Given the description of an element on the screen output the (x, y) to click on. 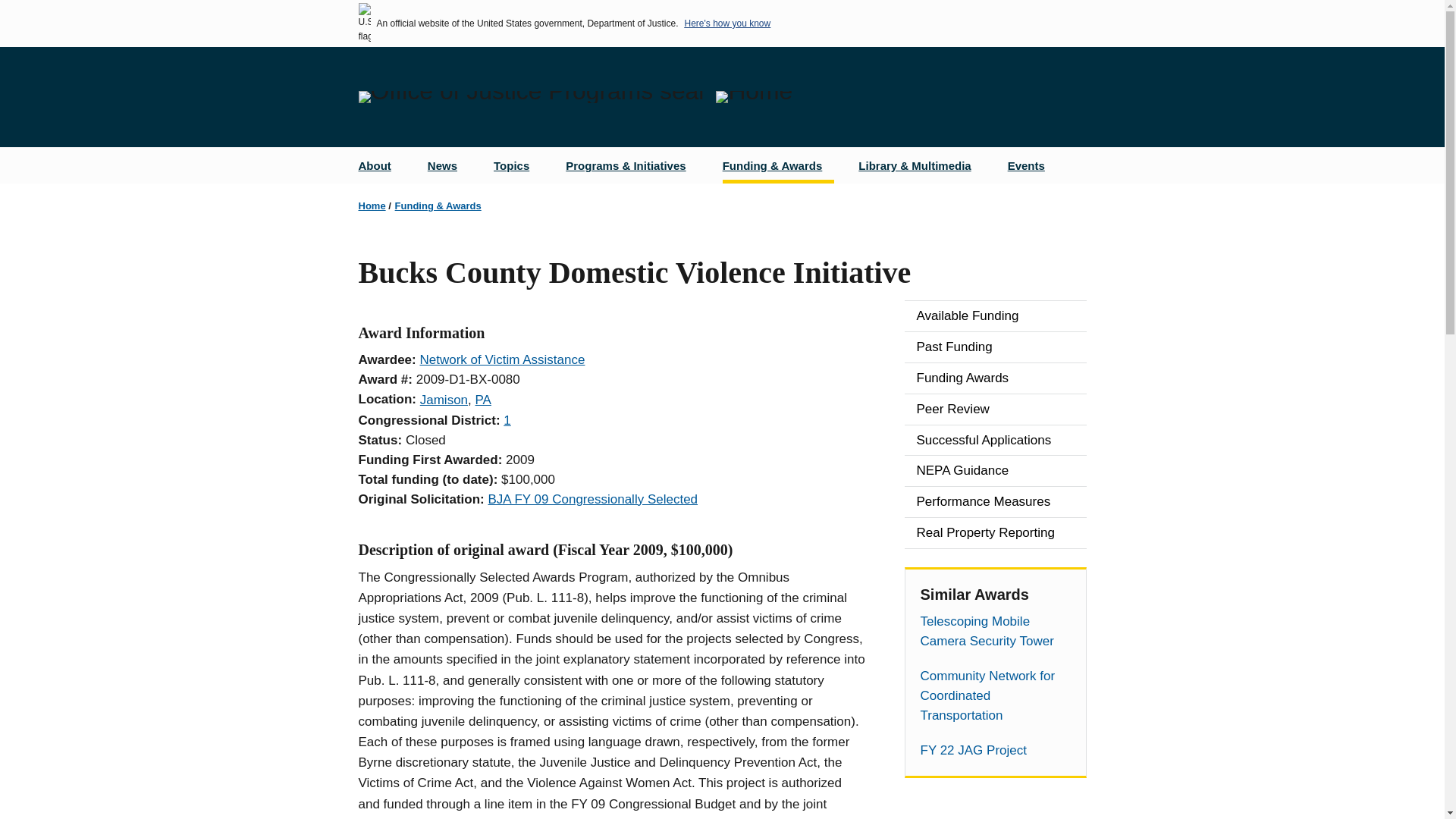
NEPA Guidance (995, 470)
Performance Measures (995, 501)
News (447, 165)
About (380, 165)
Office of Justice Programs (530, 96)
Available Funding (995, 316)
BJA FY 09 Congressionally Selected (592, 499)
Events (1031, 165)
Network of Victim Assistance (502, 359)
